Given the description of an element on the screen output the (x, y) to click on. 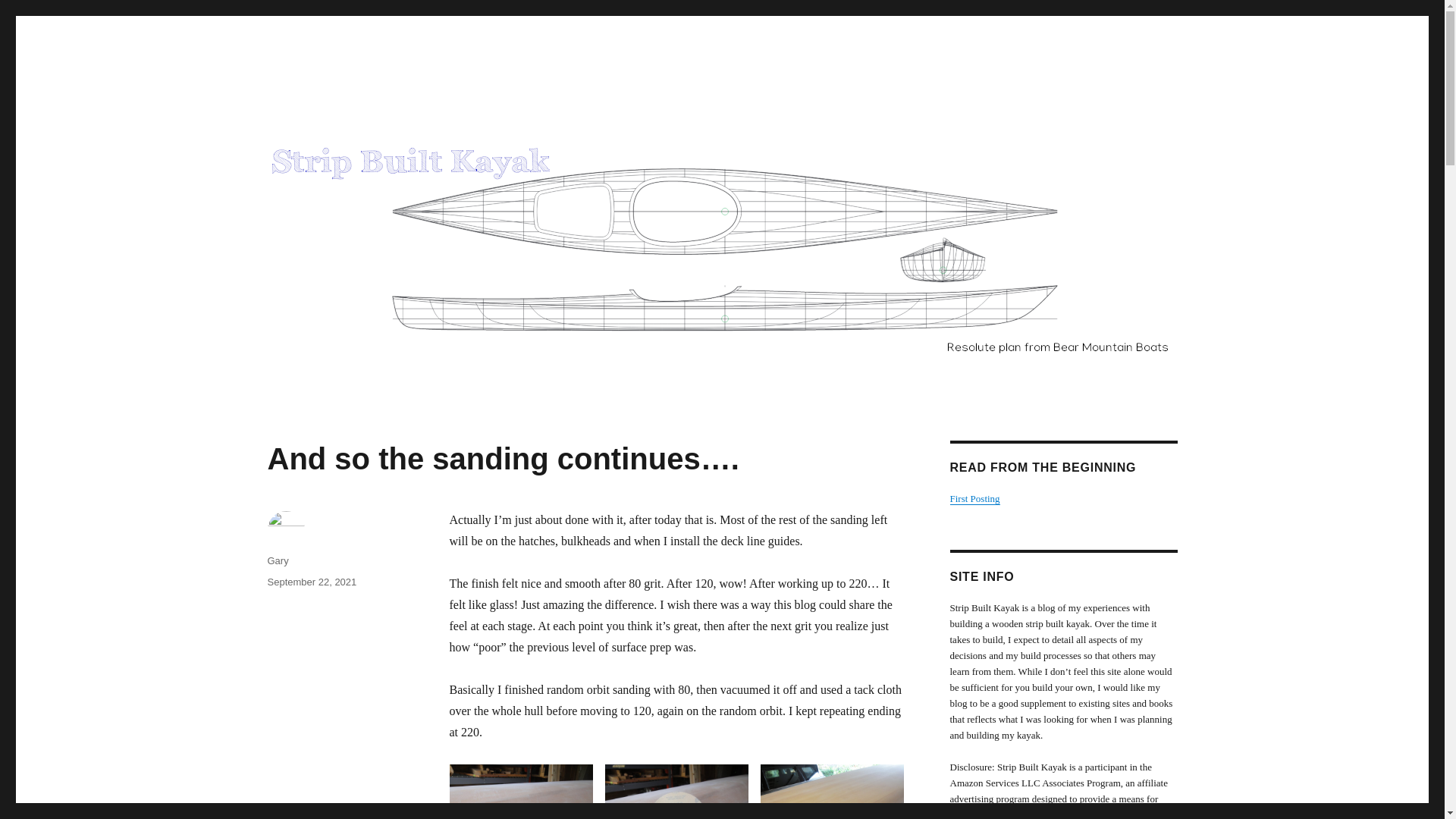
Gary (277, 560)
September 22, 2021 (311, 582)
First Posting (973, 498)
Strip Built Kayak (351, 114)
